Given the description of an element on the screen output the (x, y) to click on. 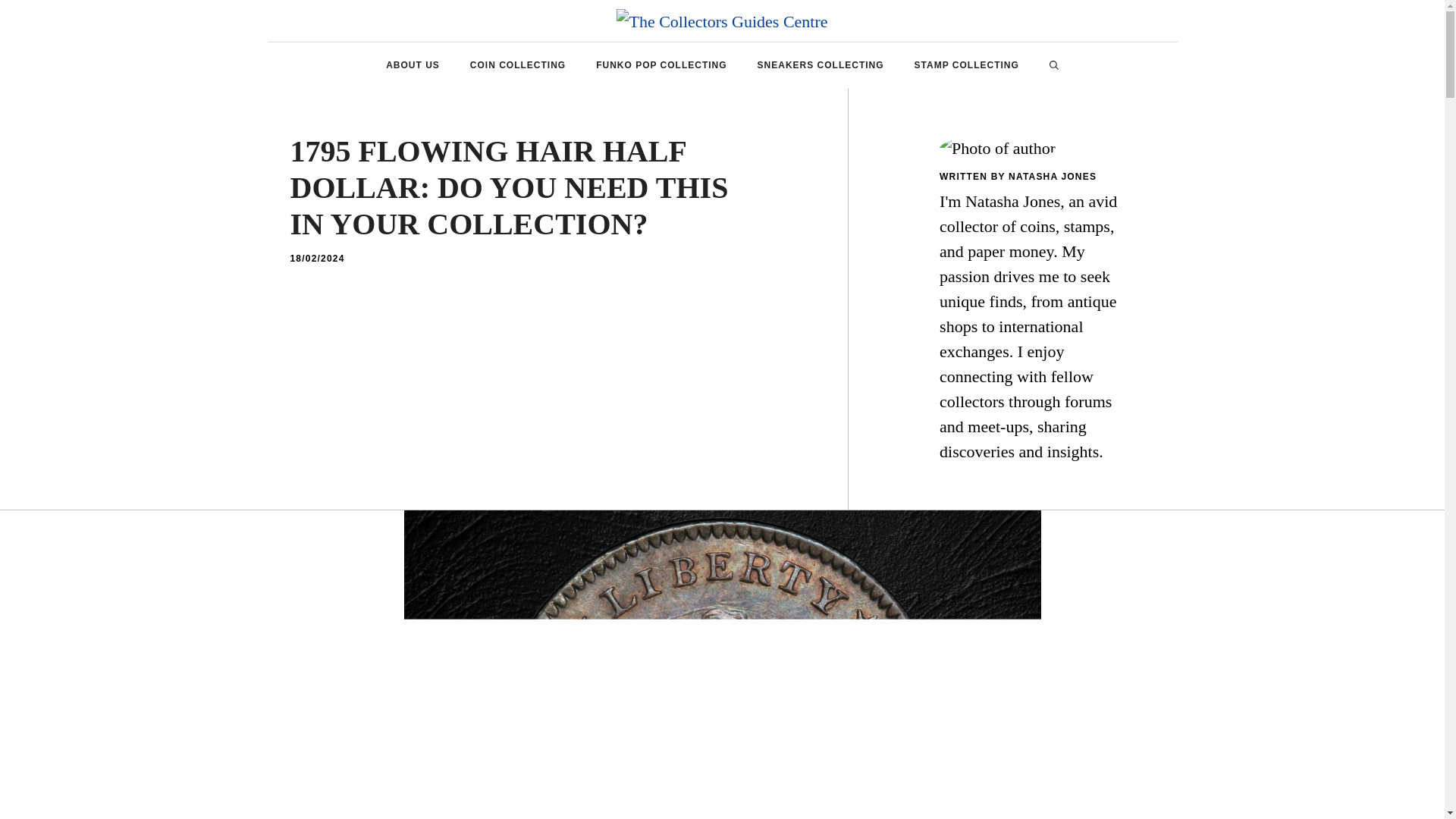
SNEAKERS COLLECTING (820, 64)
STAMP COLLECTING (966, 64)
COIN COLLECTING (517, 64)
FUNKO POP COLLECTING (660, 64)
ABOUT US (412, 64)
